Given the description of an element on the screen output the (x, y) to click on. 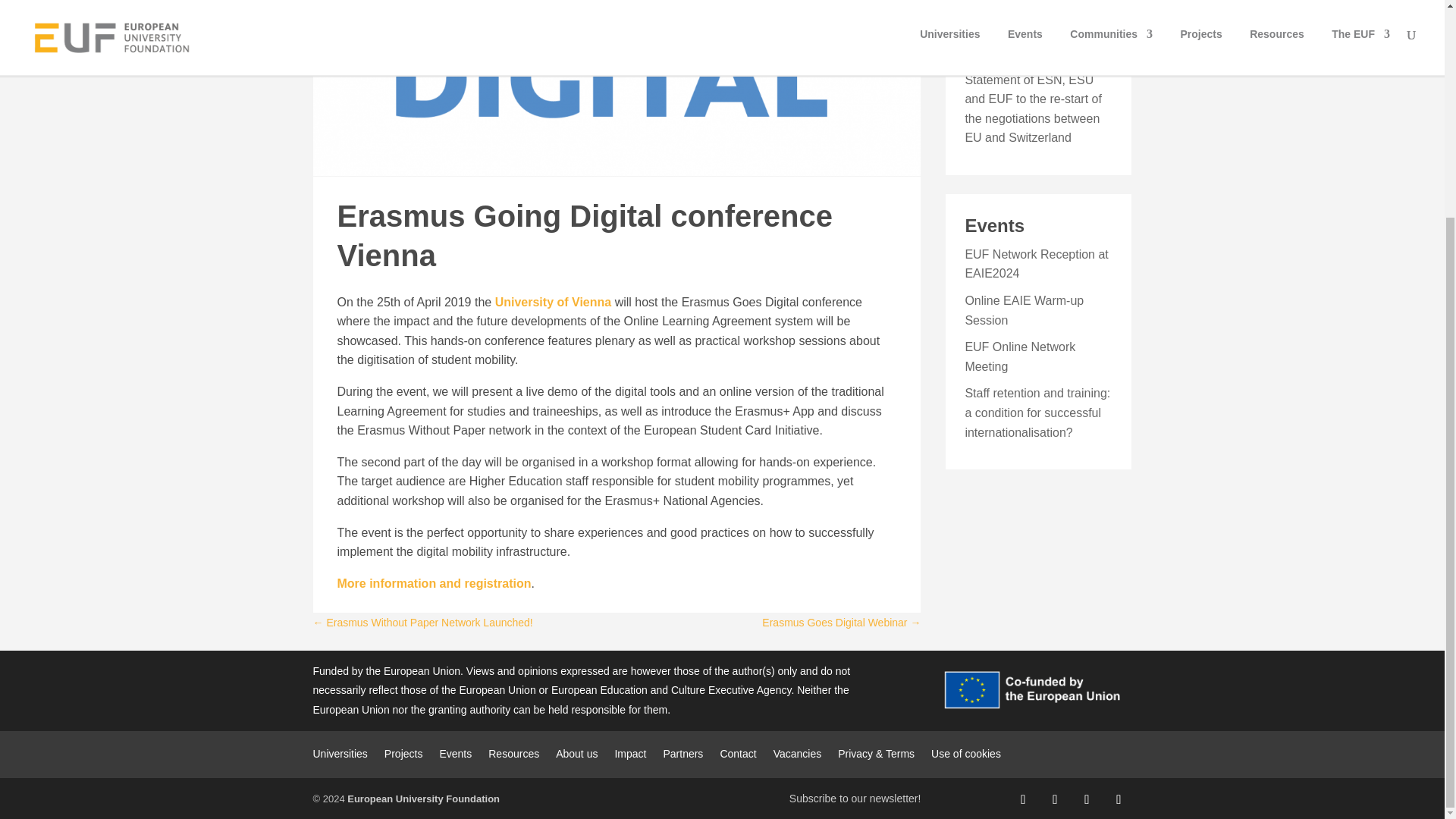
Follow on Youtube (1118, 800)
More information and registration (433, 583)
Follow on X (1054, 800)
University of Vienna (553, 301)
Follow on LinkedIn (1086, 800)
A refreshing week for change at the Open Space 2024 (1035, 6)
Follow on Facebook (1022, 800)
